Given the description of an element on the screen output the (x, y) to click on. 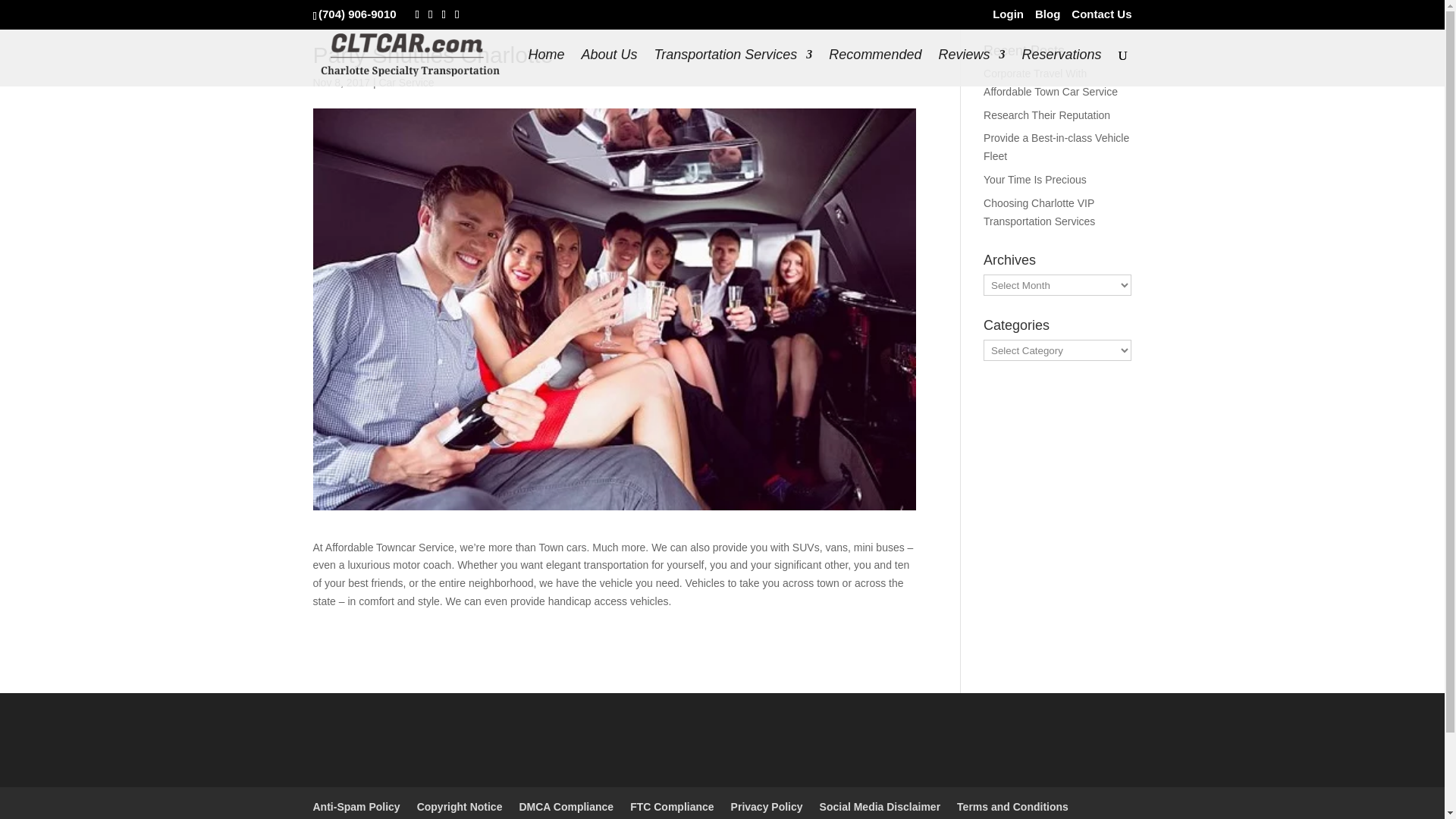
Terms and Conditions (1012, 806)
FTC Compliance (671, 806)
Car Service (405, 82)
Blog (1047, 17)
Privacy Policy (766, 806)
Research Their Reputation (1046, 114)
Copyright Notice (459, 806)
Home (546, 67)
Social Media Disclaimer (879, 806)
Your Time Is Precious (1035, 179)
Choosing Charlotte VIP Transportation Services (1039, 212)
Provide a Best-in-class Vehicle Fleet (1056, 146)
Reviews (970, 67)
Corporate Travel With Affordable Town Car Service (1051, 82)
Transportation Services (732, 67)
